Given the description of an element on the screen output the (x, y) to click on. 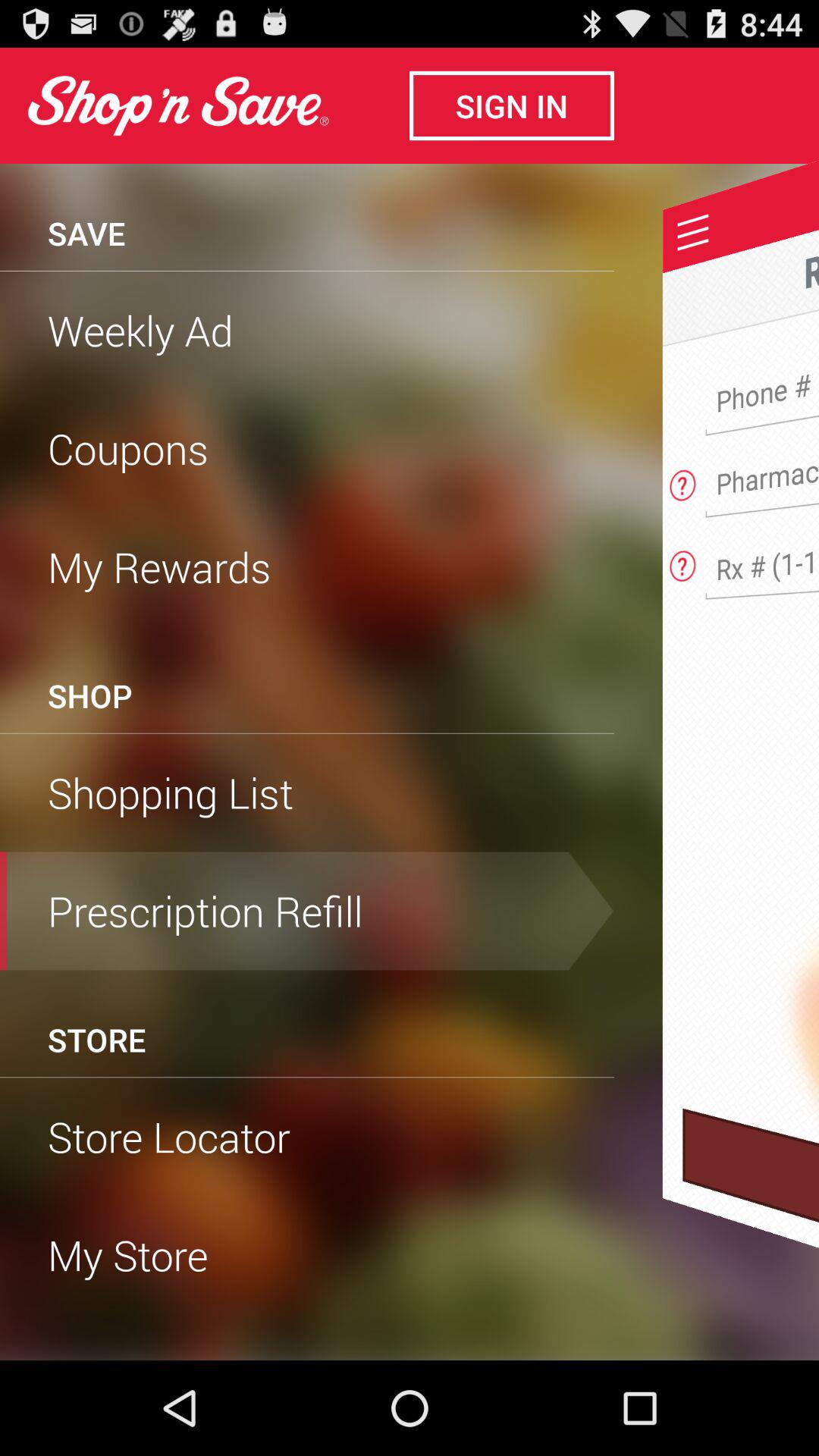
launch coupons item (307, 448)
